Given the description of an element on the screen output the (x, y) to click on. 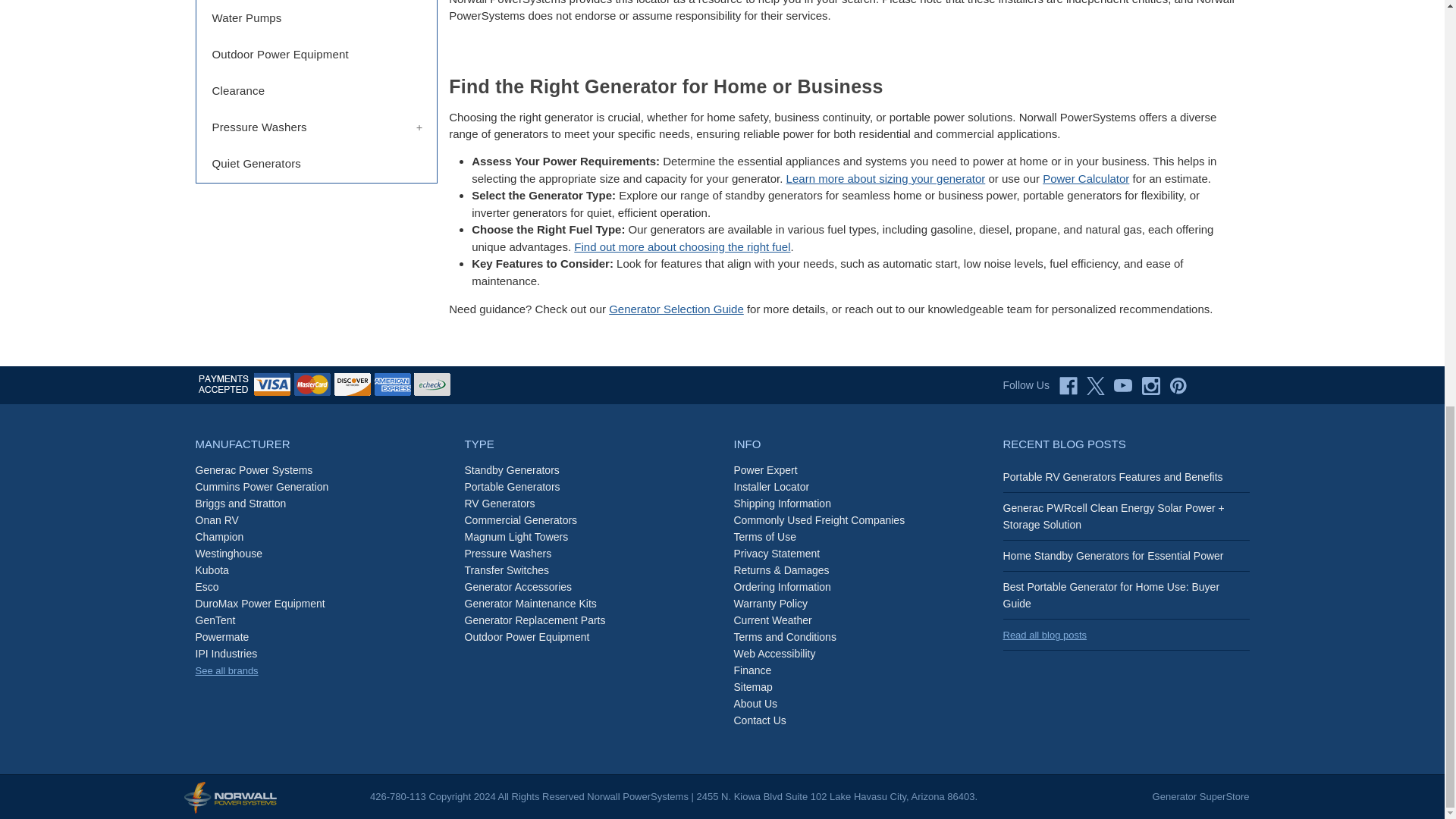
facebook (1068, 386)
instagram (1150, 386)
twitter (1095, 386)
youtube (1122, 386)
pinterest (1178, 386)
